Given the description of an element on the screen output the (x, y) to click on. 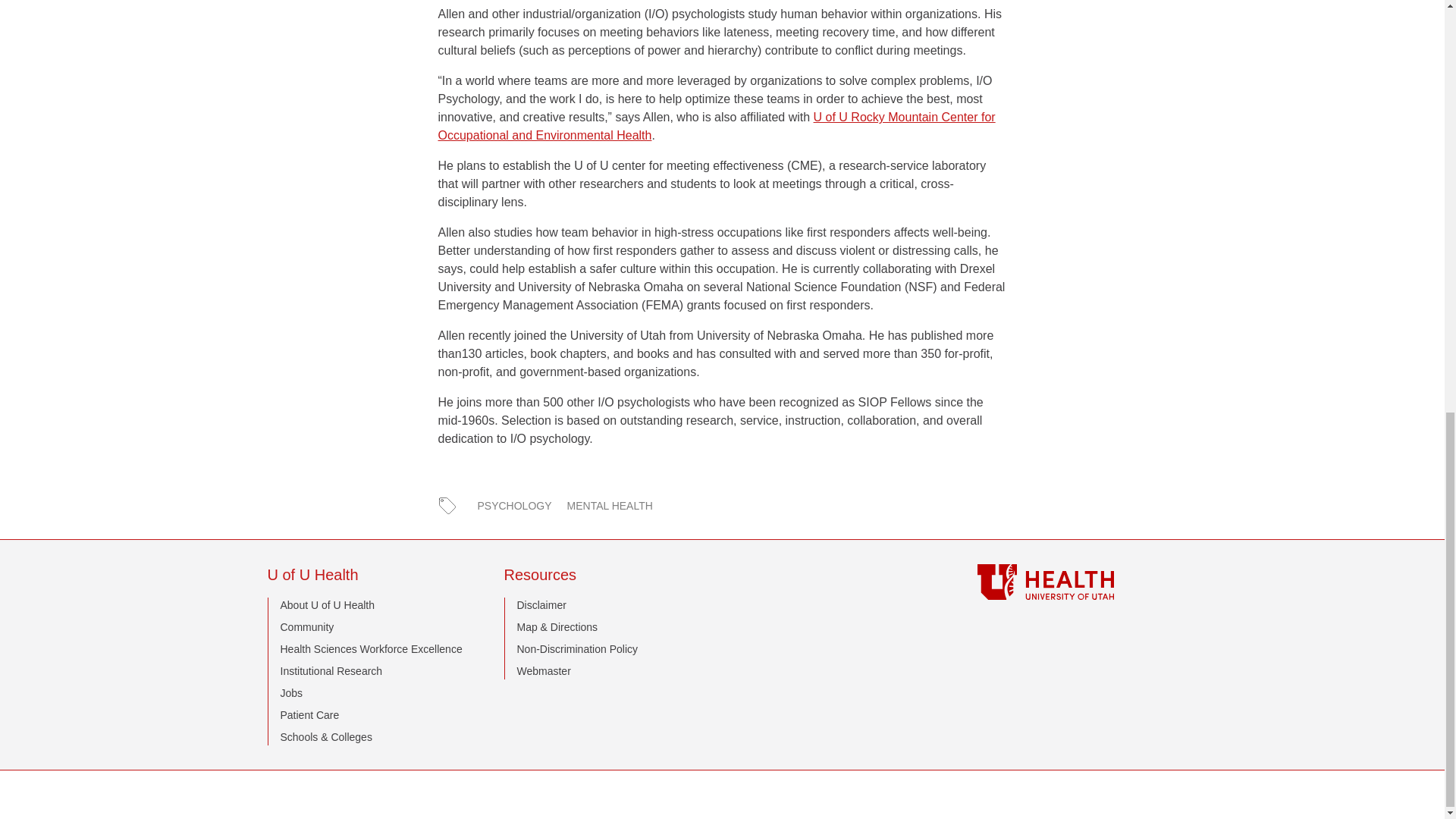
University of Utah Healthcare (1076, 581)
